Given the description of an element on the screen output the (x, y) to click on. 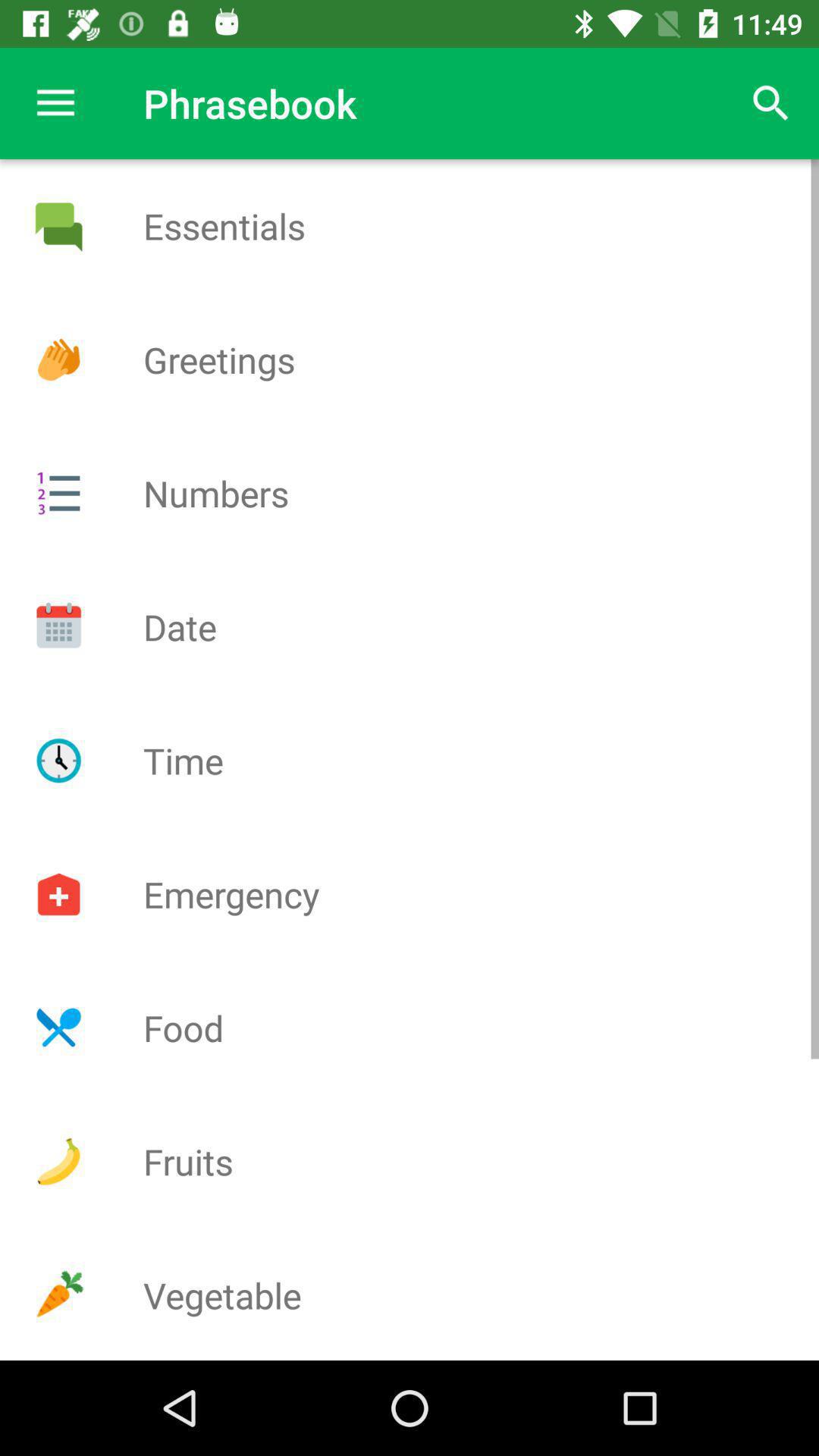
select emergency category (58, 894)
